Given the description of an element on the screen output the (x, y) to click on. 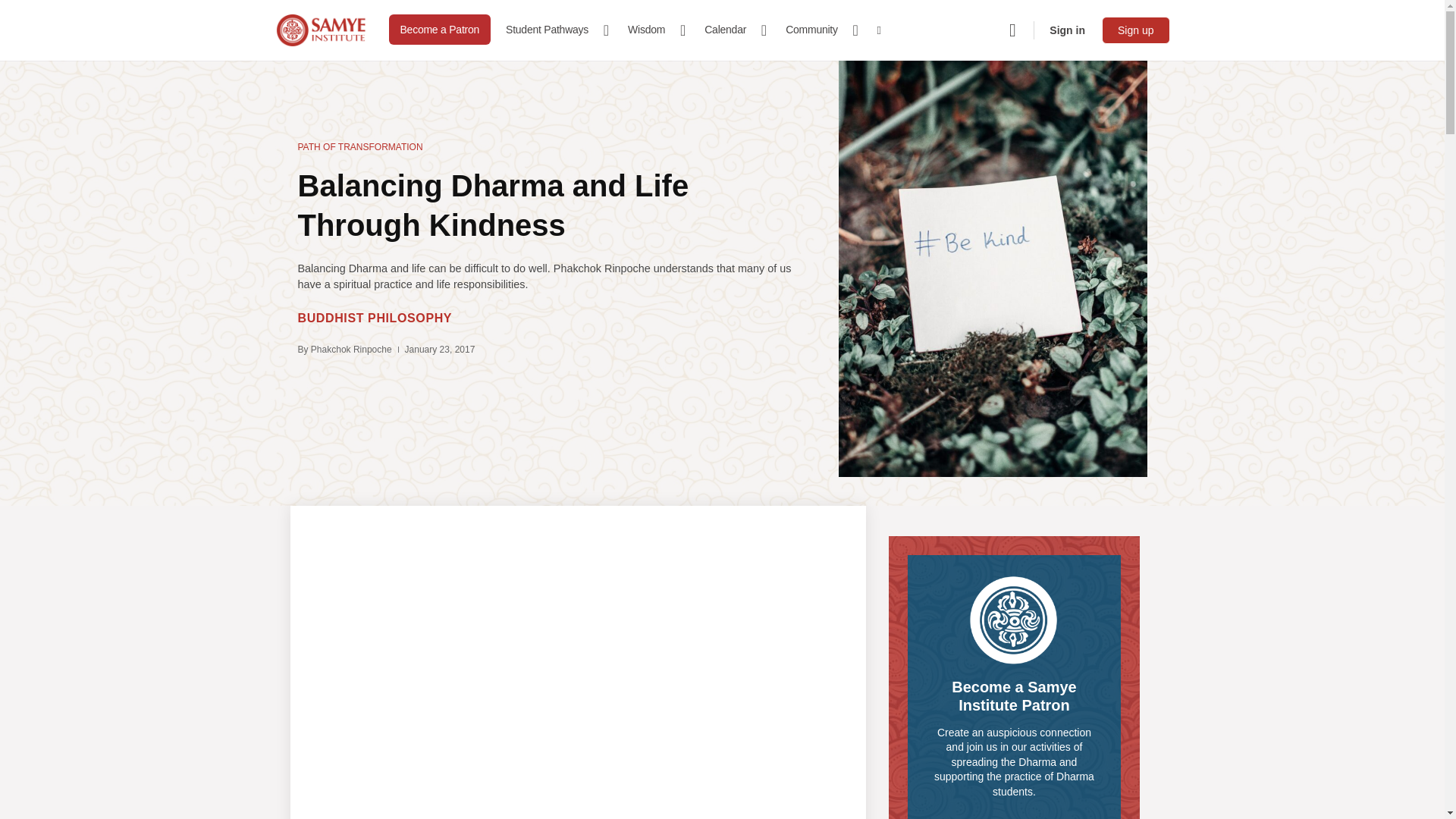
Calendar (732, 30)
Become a Patron (440, 30)
Wisdom (652, 30)
Student Pathways (552, 30)
Community (818, 30)
